Given the description of an element on the screen output the (x, y) to click on. 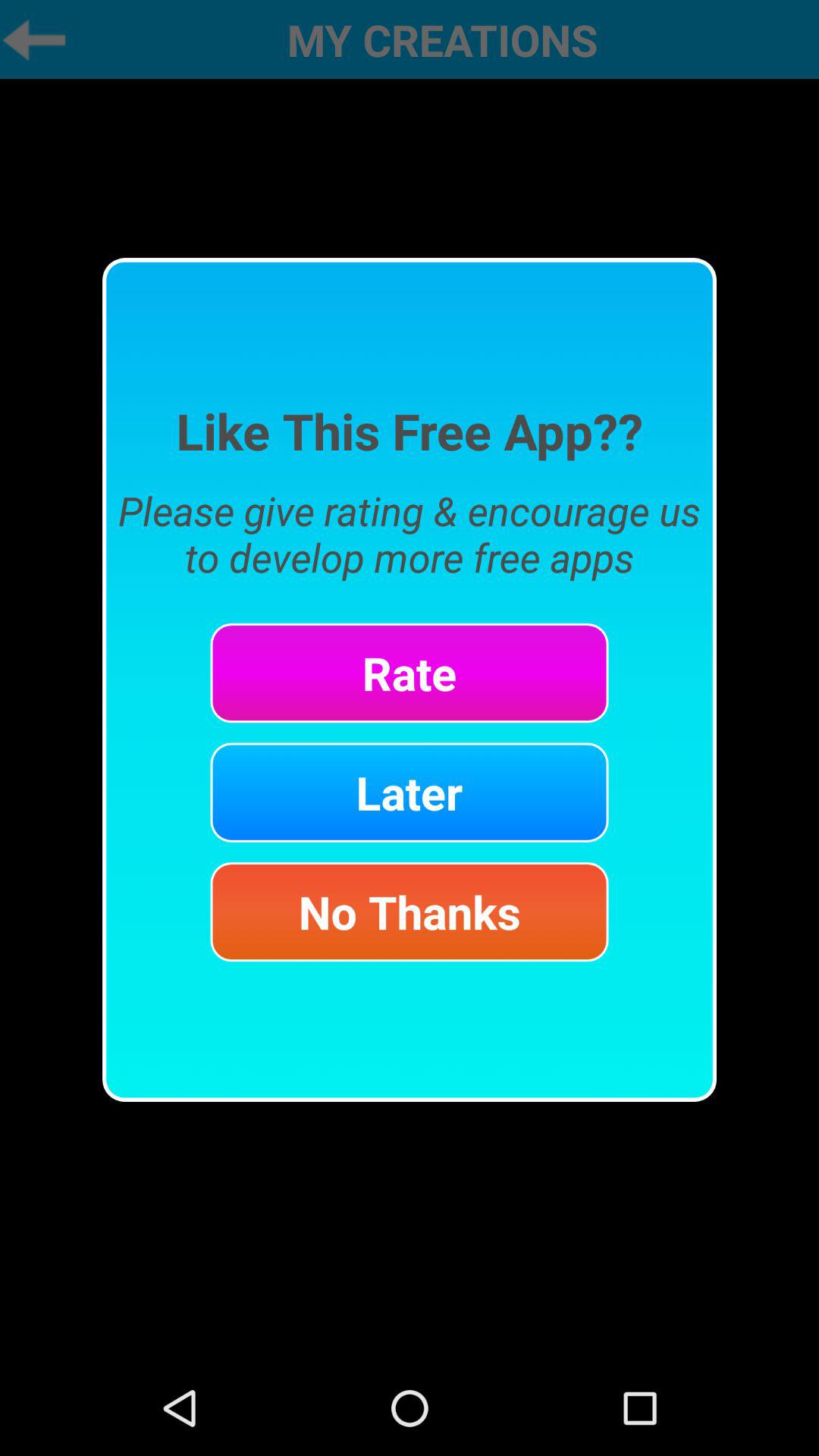
jump to no thanks (409, 911)
